Given the description of an element on the screen output the (x, y) to click on. 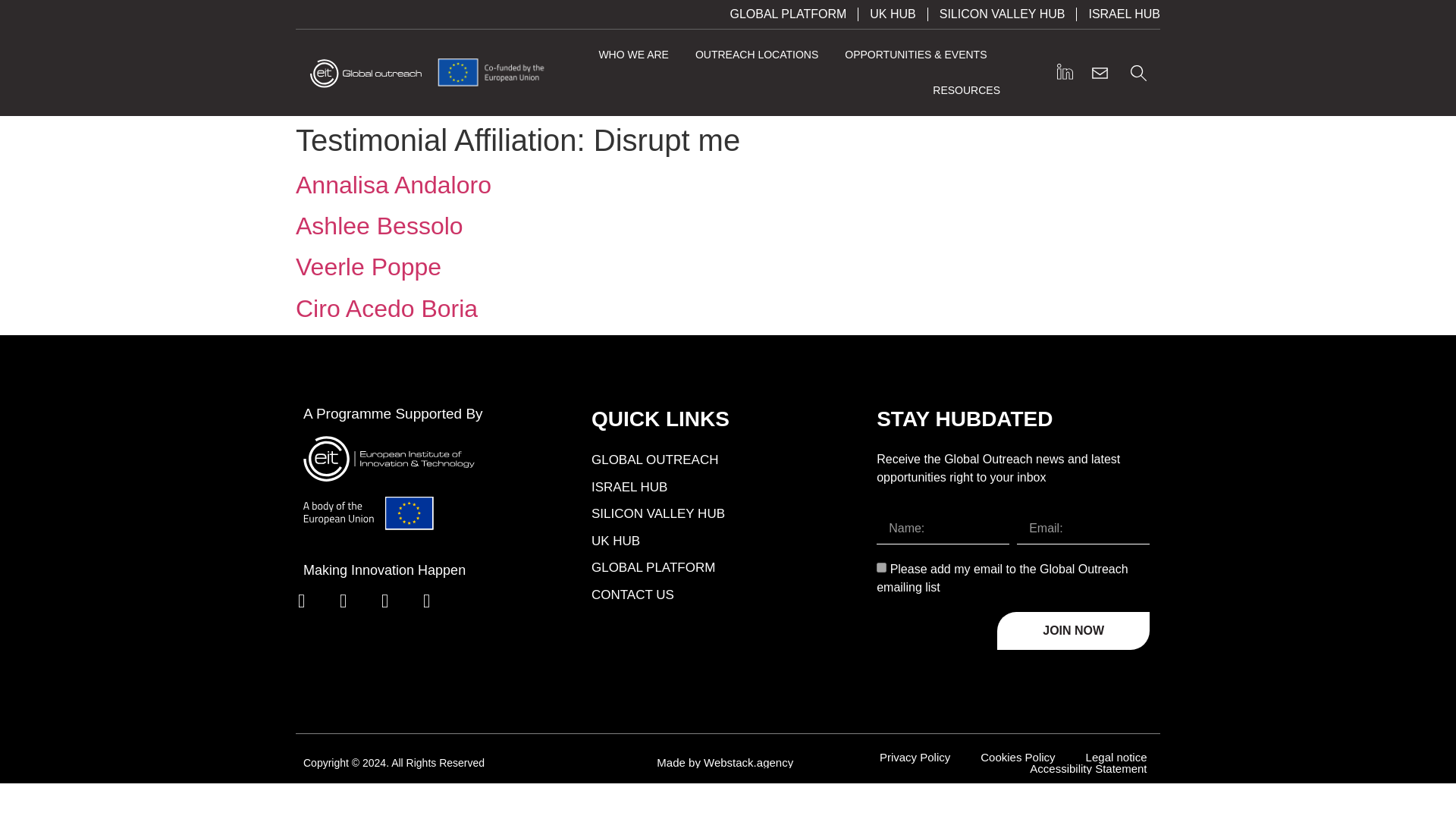
OUTREACH LOCATIONS (756, 54)
GLOBAL PLATFORM (787, 13)
RESOURCES (966, 90)
on (881, 567)
SILICON VALLEY HUB (1002, 13)
WHO WE ARE (633, 54)
UK HUB (892, 13)
ISRAEL HUB (1123, 13)
